Given the description of an element on the screen output the (x, y) to click on. 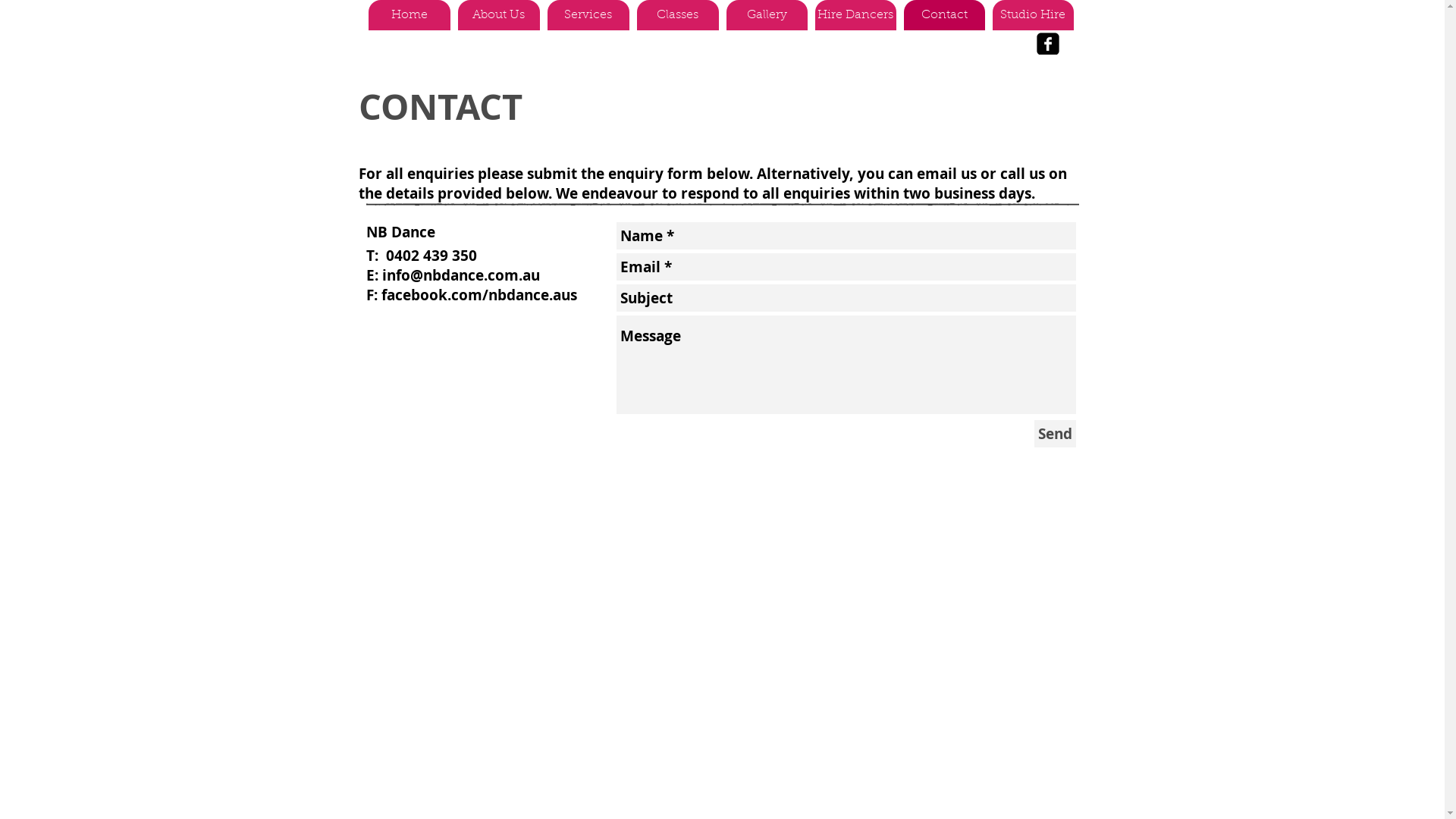
Studio Hire Element type: text (1032, 15)
Services Element type: text (588, 15)
info@nbdance.com.au Element type: text (460, 275)
Home Element type: text (409, 15)
Contact Element type: text (944, 15)
Gallery Element type: text (766, 15)
Classes Element type: text (677, 15)
About Us Element type: text (498, 15)
Send Element type: text (1055, 433)
